Given the description of an element on the screen output the (x, y) to click on. 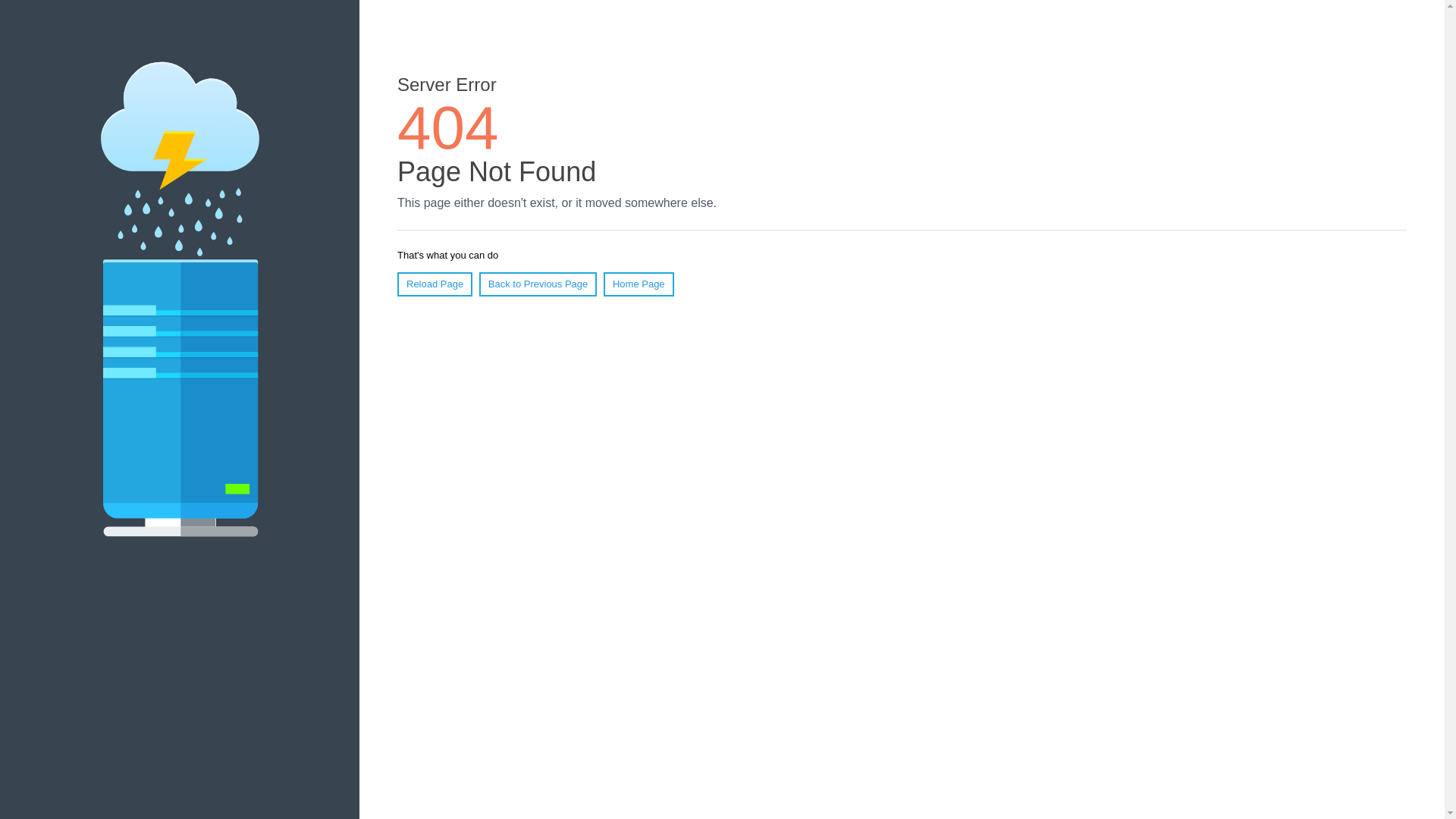
Reload Page Element type: text (434, 284)
Back to Previous Page Element type: text (538, 284)
Home Page Element type: text (638, 284)
